Given the description of an element on the screen output the (x, y) to click on. 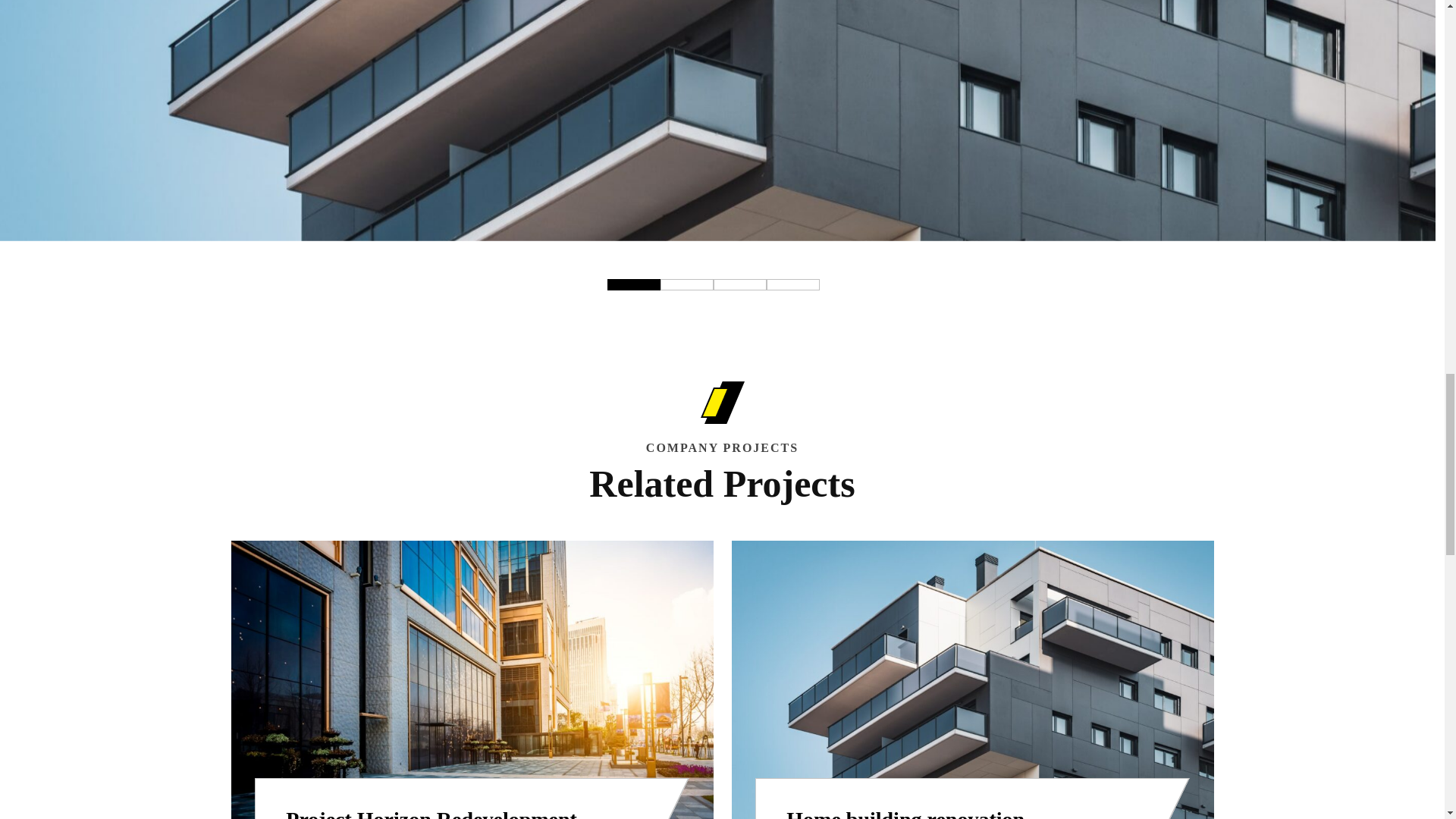
Project Horizon Redevelopment (430, 813)
Home building renovation (905, 813)
